Given the description of an element on the screen output the (x, y) to click on. 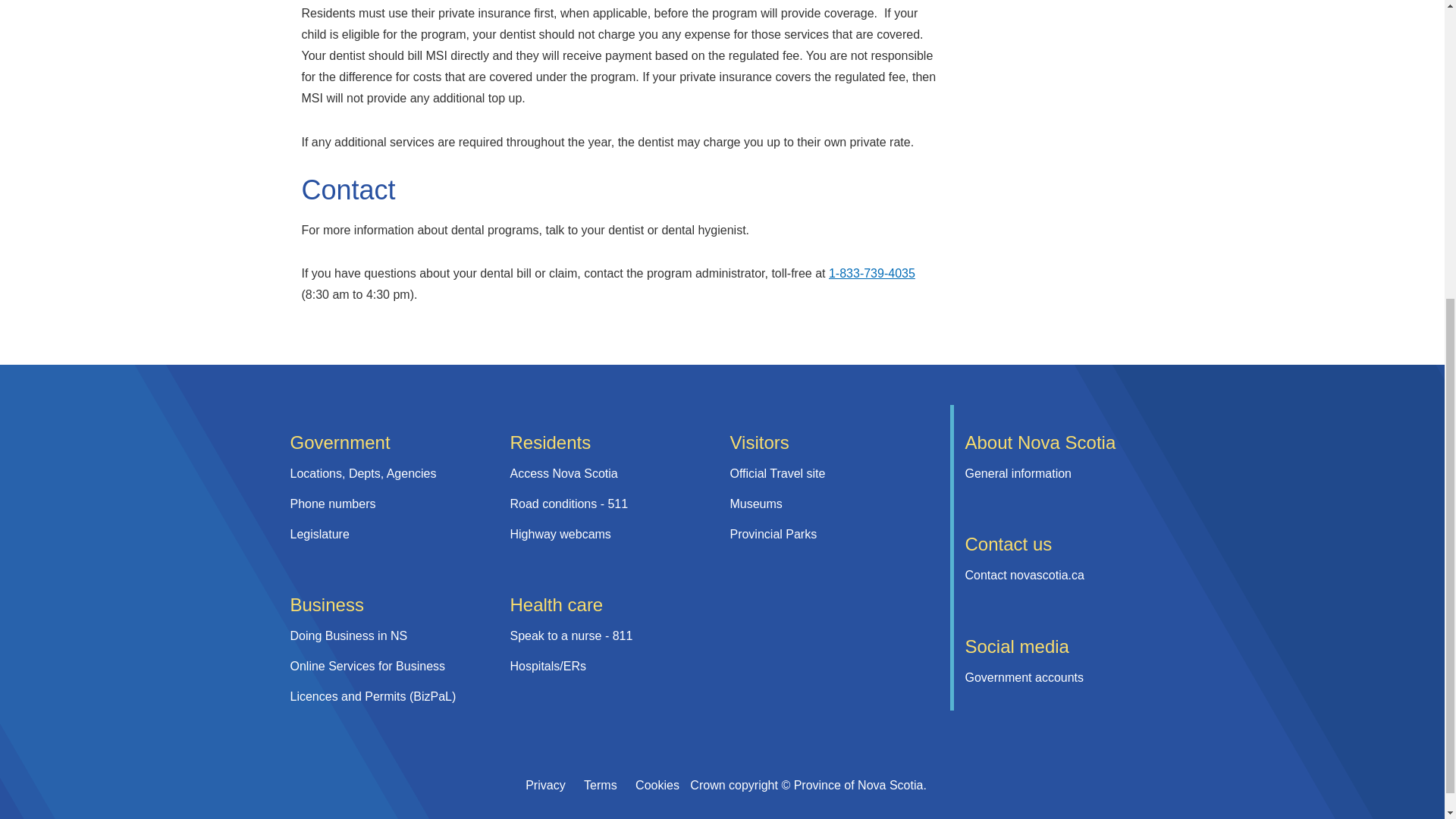
Legislature (319, 533)
1-833-739-4035 (871, 273)
Locations, Depts, Agencies (362, 472)
Access Nova Scotia (563, 472)
Phone numbers (332, 503)
